Given the description of an element on the screen output the (x, y) to click on. 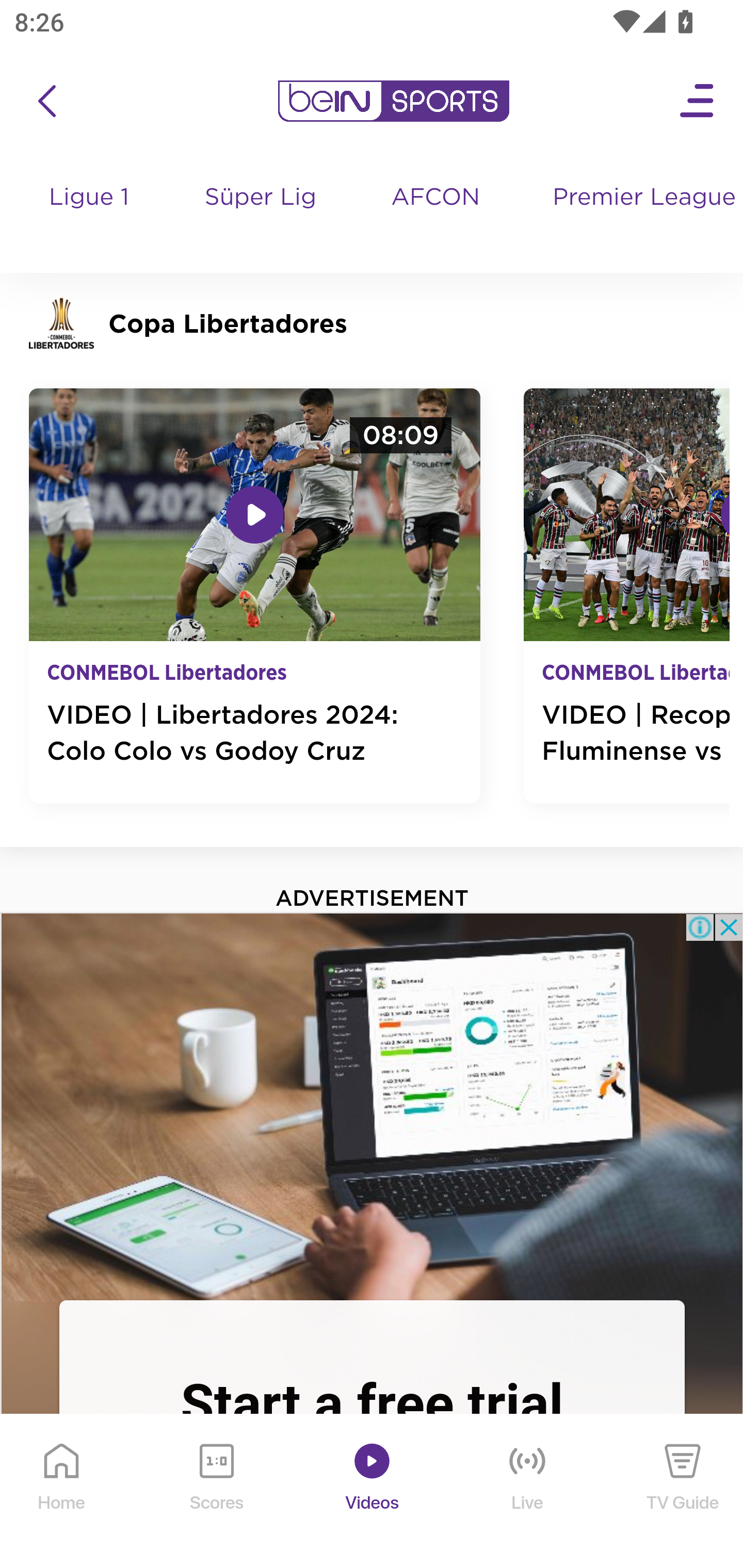
en-us?platform=mobile_android bein logo (392, 101)
icon back (46, 101)
Open Menu Icon (697, 101)
Ligue 1 (89, 216)
Süper Lig (261, 216)
AFCON (434, 198)
Premier League (639, 198)
%3Fcid%3Dppc_ROW_%7Bdscampaign%7D%26gclsrc%3Daw (371, 1105)
Home Home Icon Home (61, 1491)
Scores Scores Icon Scores (216, 1491)
Videos Videos Icon Videos (372, 1491)
TV Guide TV Guide Icon TV Guide (682, 1491)
